Given the description of an element on the screen output the (x, y) to click on. 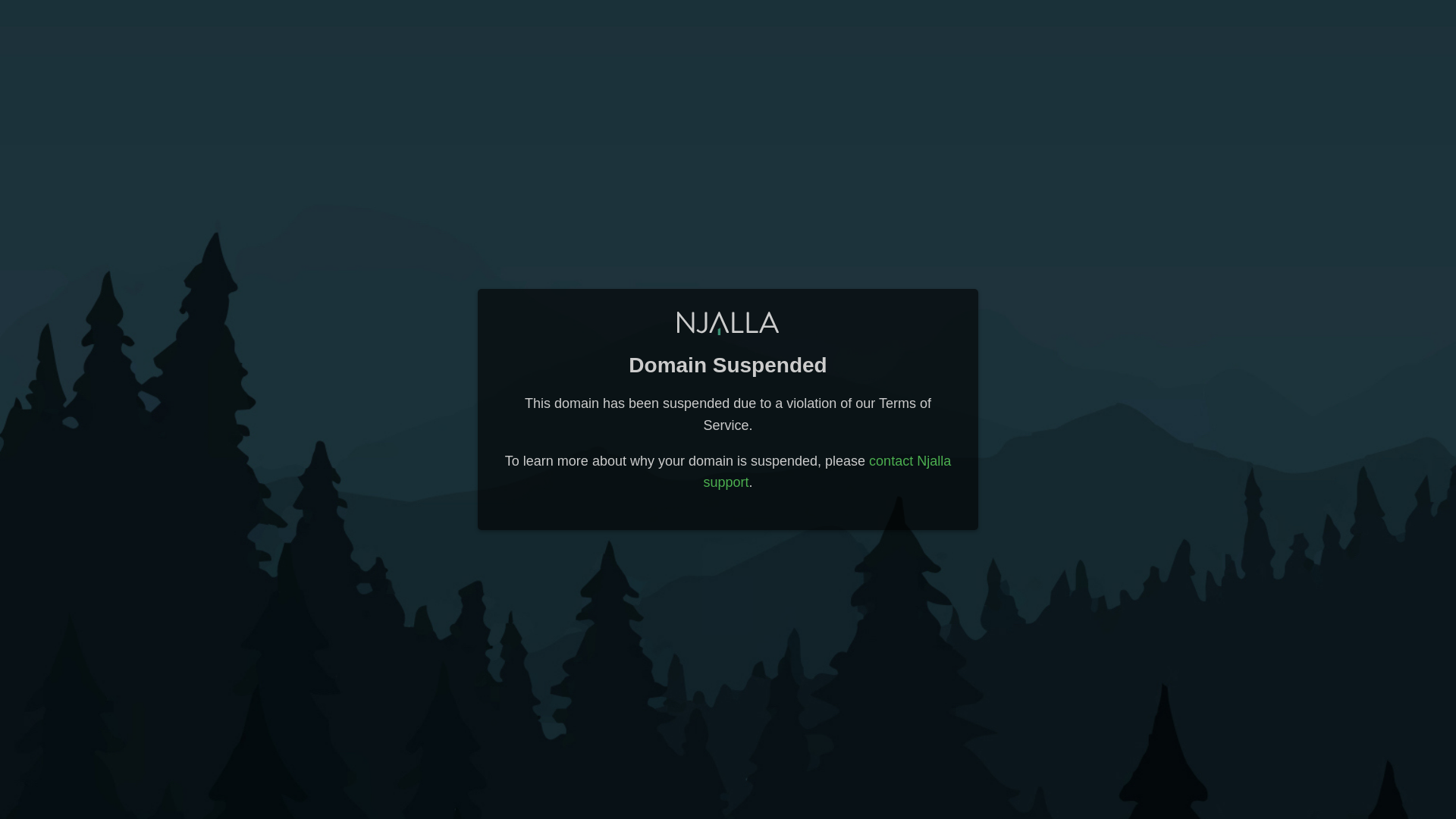
contact Njalla support (826, 471)
